Given the description of an element on the screen output the (x, y) to click on. 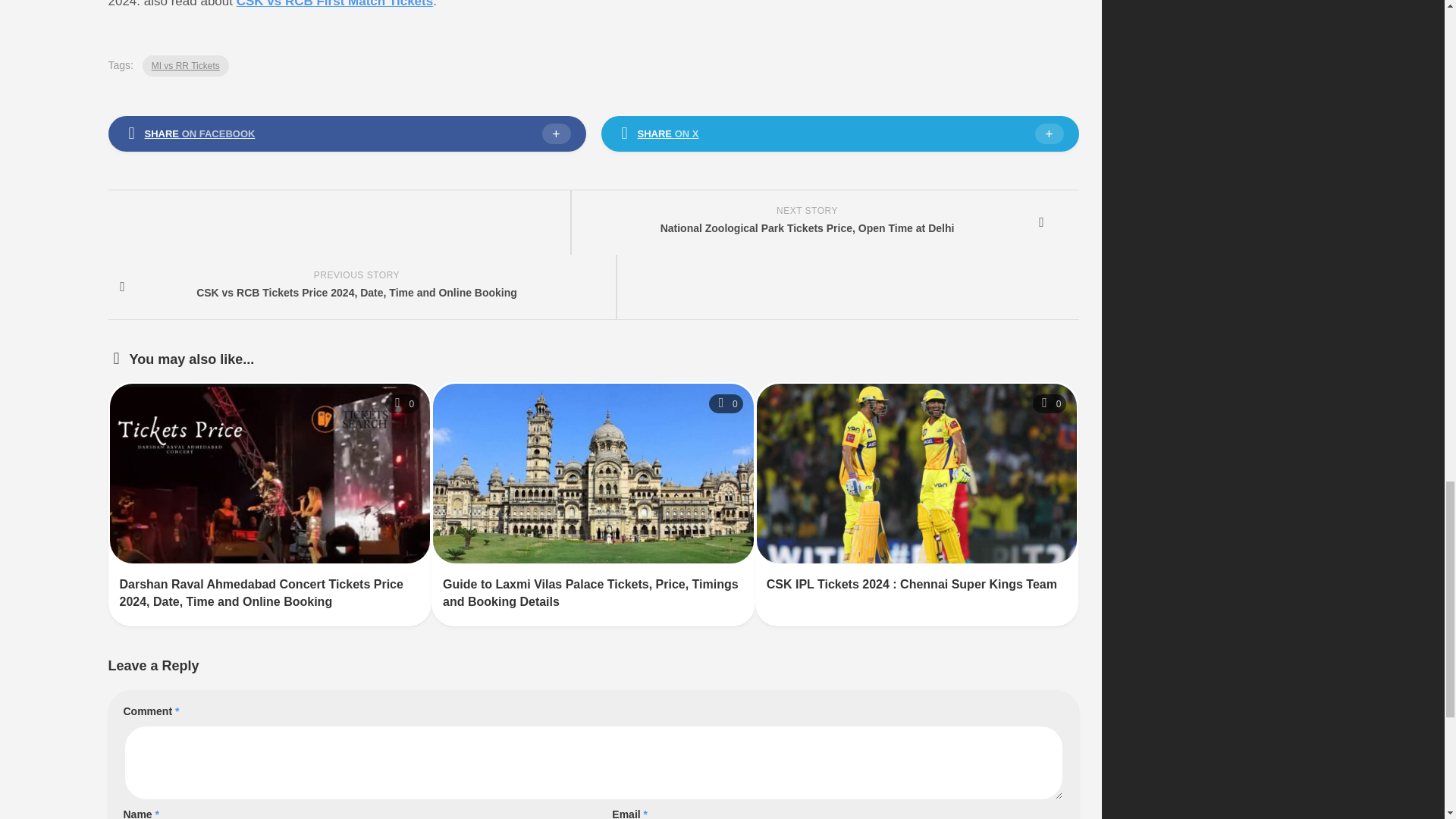
0 (402, 403)
CSK IPL Tickets 2024 : Chennai Super Kings Team (912, 584)
0 (725, 403)
SHARE ON X (838, 133)
CSK vs RCB First Match Tickets (333, 4)
SHARE ON FACEBOOK (346, 133)
MI vs RR Tickets (185, 65)
0 (1049, 403)
